Given the description of an element on the screen output the (x, y) to click on. 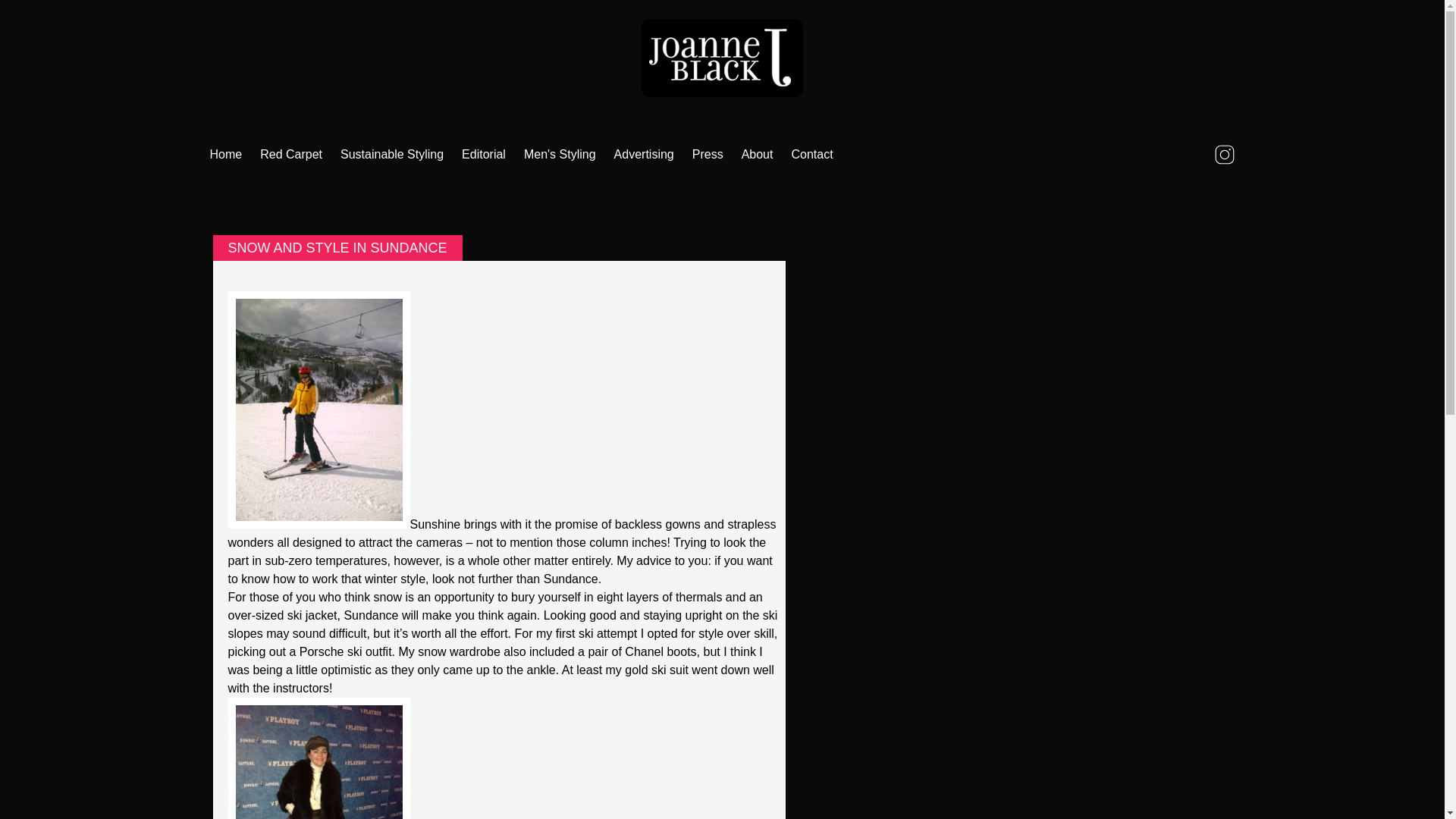
photo (318, 758)
Contact (811, 154)
About (757, 154)
SNOW AND STYLE IN SUNDANCE (336, 248)
Home (225, 154)
Press (707, 154)
Joanne's Instagram (1223, 154)
Sustainable Styling (391, 154)
Editorial (483, 154)
Red Carpet (290, 154)
Men's Styling (560, 154)
Advertising (643, 154)
